Given the description of an element on the screen output the (x, y) to click on. 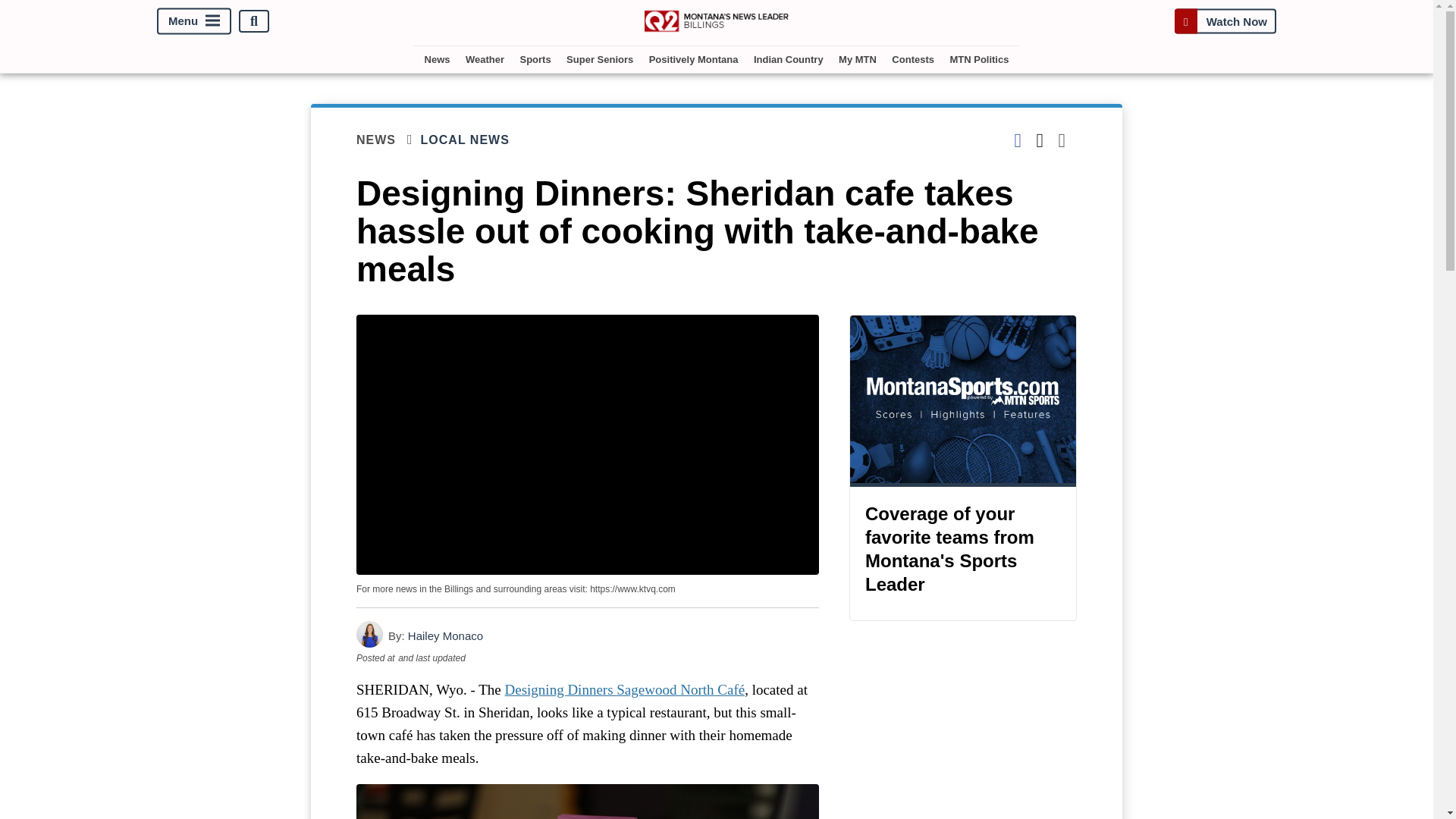
Menu (194, 21)
Watch Now (1224, 21)
